Given the description of an element on the screen output the (x, y) to click on. 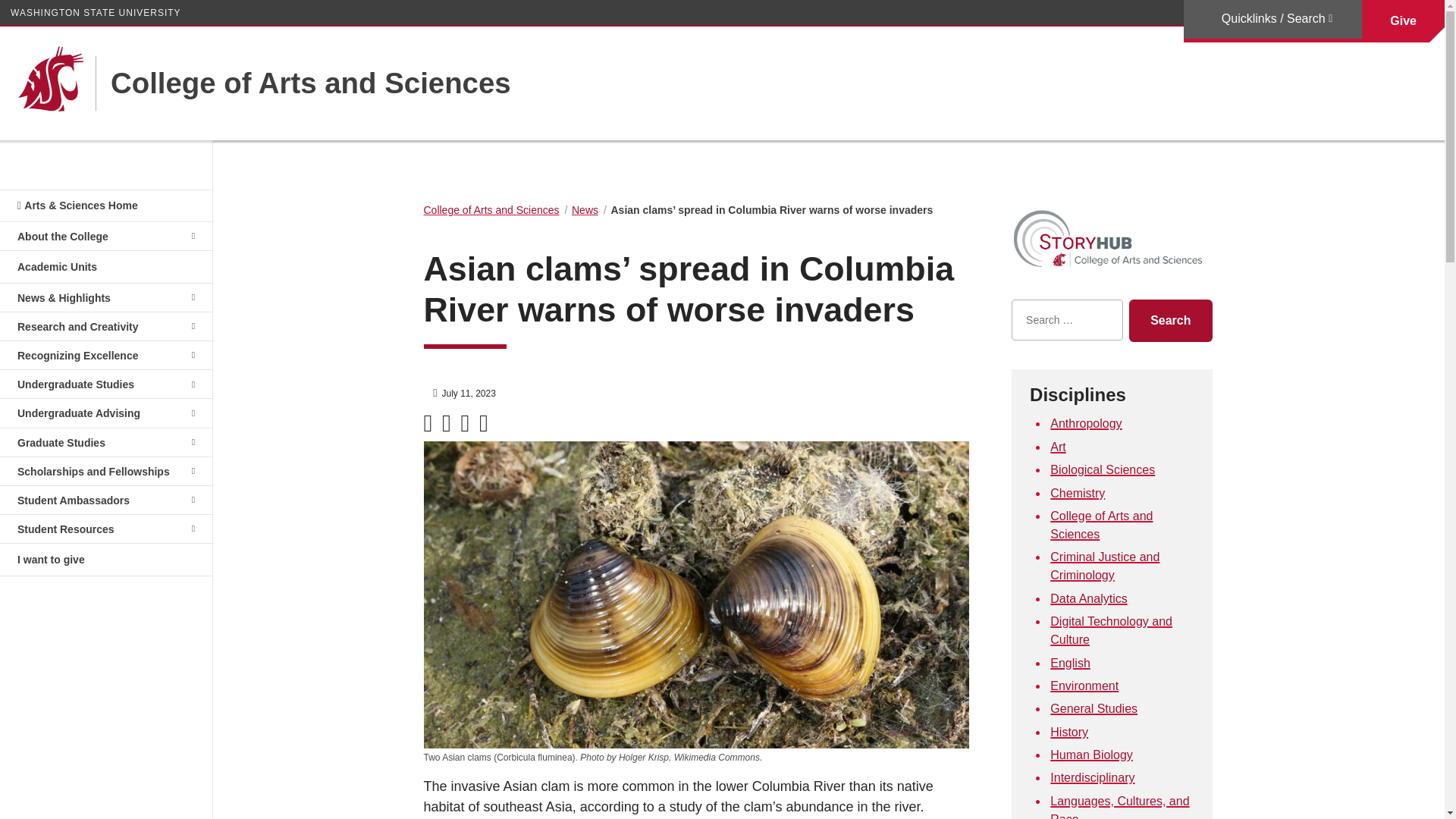
Go to College of Arts and Sciences. (491, 209)
College of Arts and Sciences (303, 83)
WASHINGTON STATE UNIVERSITY (96, 12)
Go to News. (585, 209)
Search (1170, 320)
Search (1170, 320)
